Given the description of an element on the screen output the (x, y) to click on. 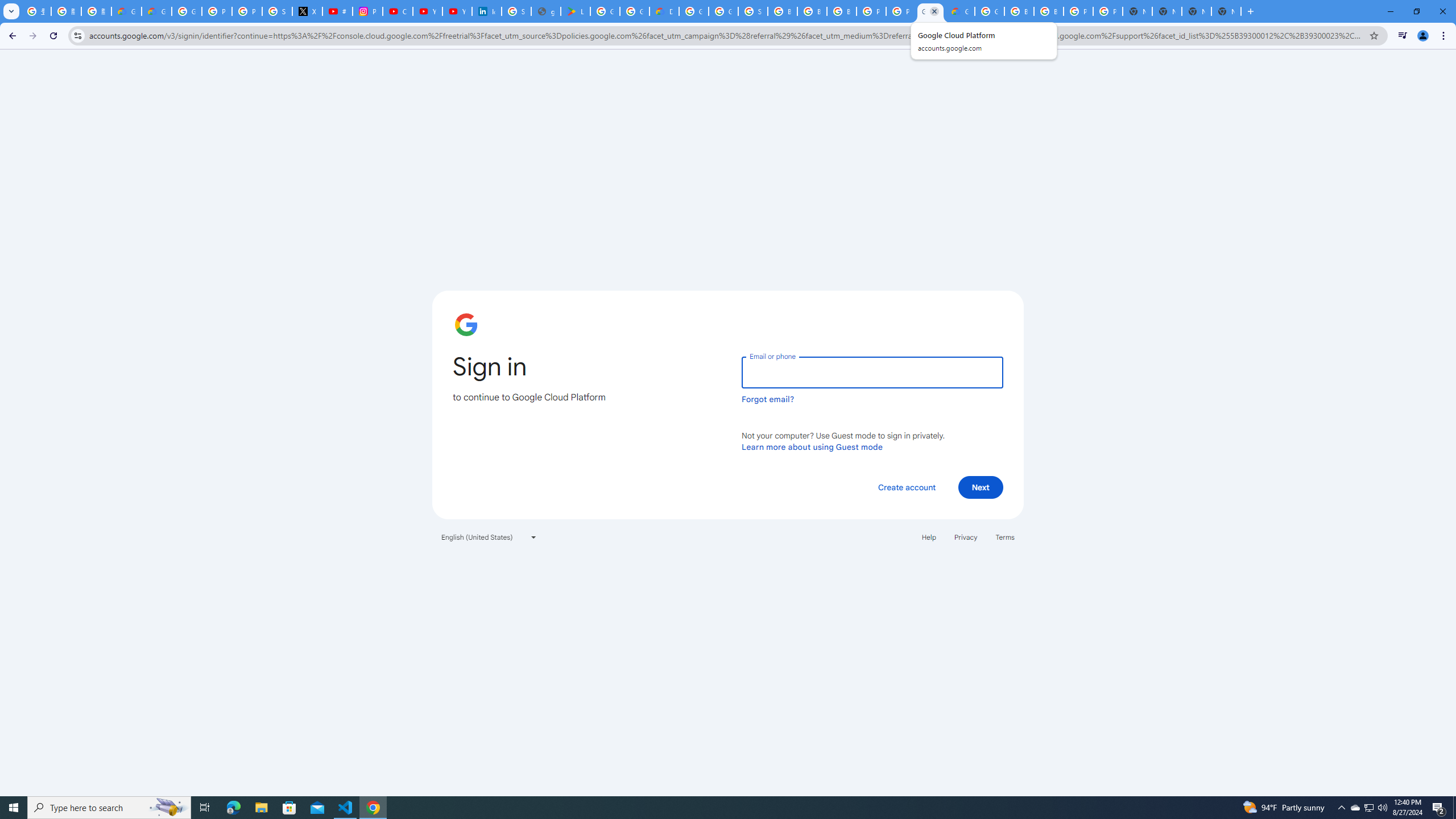
Forgot email? (767, 398)
YouTube Culture & Trends - YouTube Top 10, 2021 (456, 11)
Google Cloud Platform (693, 11)
Create account (905, 486)
Learn more about using Guest mode (812, 446)
Google Cloud Estimate Summary (959, 11)
